Given the description of an element on the screen output the (x, y) to click on. 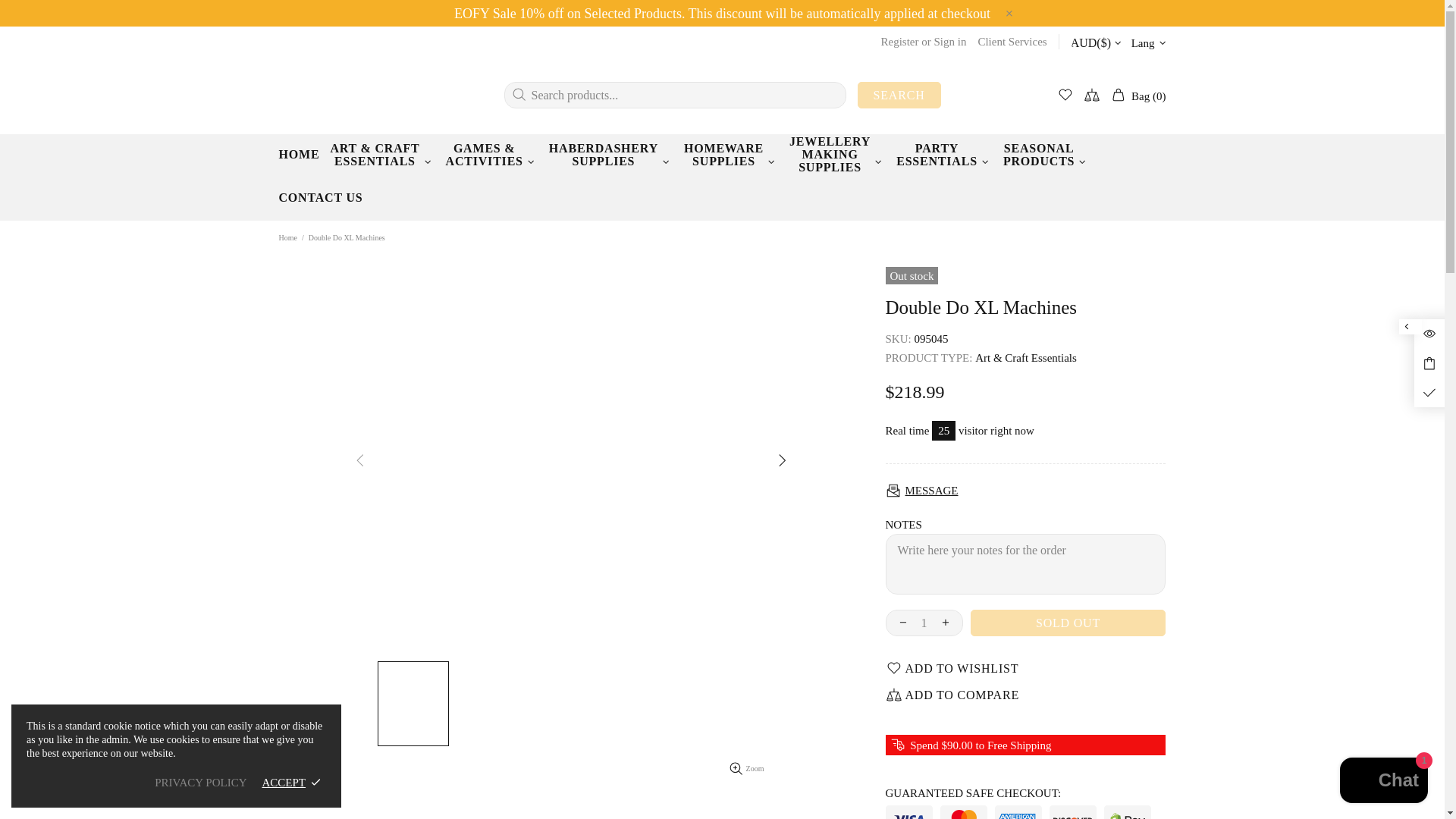
Shopify online store chat (1383, 781)
AussieSuperStore (336, 94)
HOME (298, 162)
1 (923, 622)
SEARCH (898, 94)
Client Services (1011, 40)
Sign in (950, 40)
Register (899, 40)
